Given the description of an element on the screen output the (x, y) to click on. 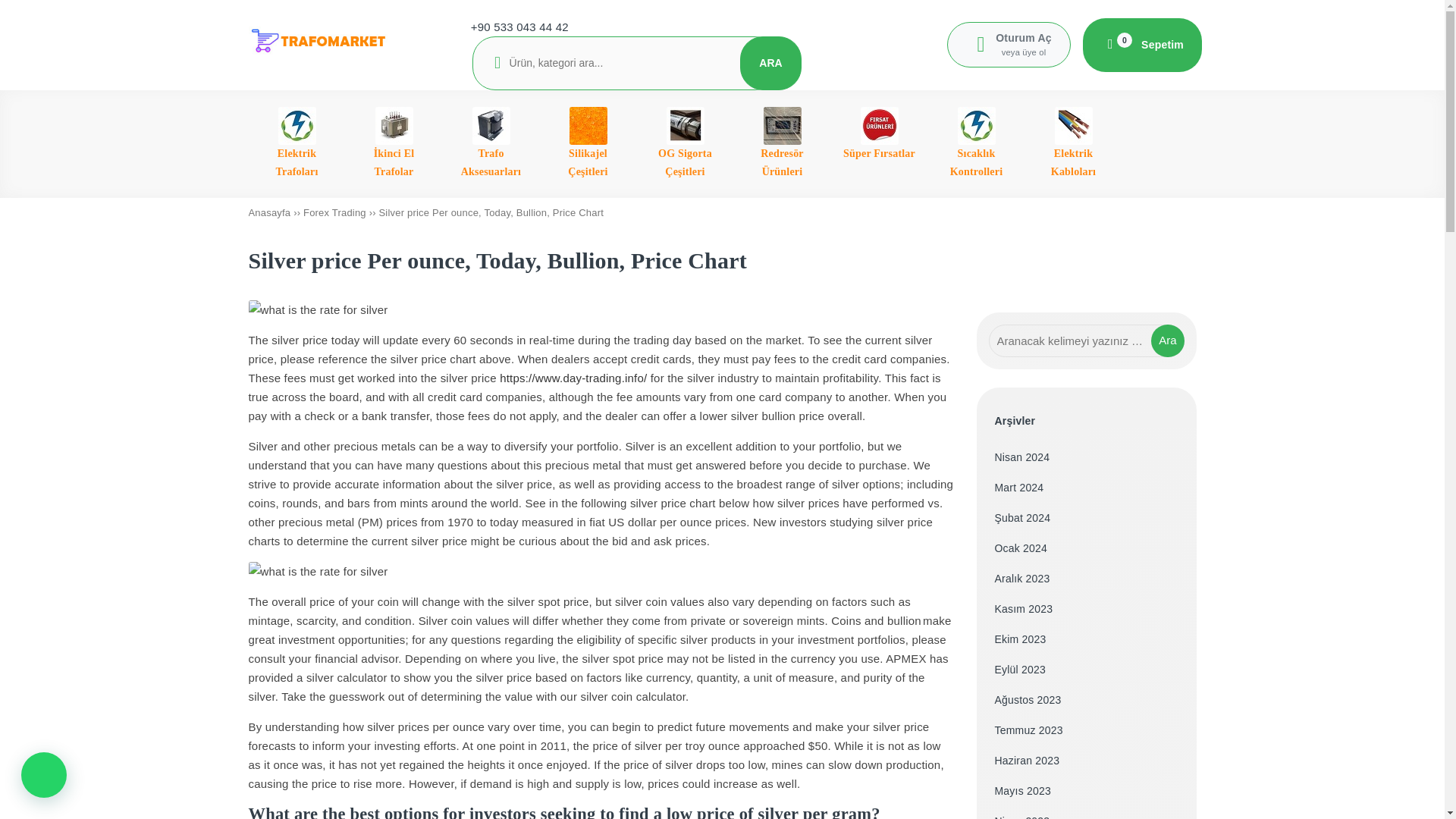
Forex Trading (334, 211)
Anasayfa (269, 211)
ARA (769, 63)
